Given the description of an element on the screen output the (x, y) to click on. 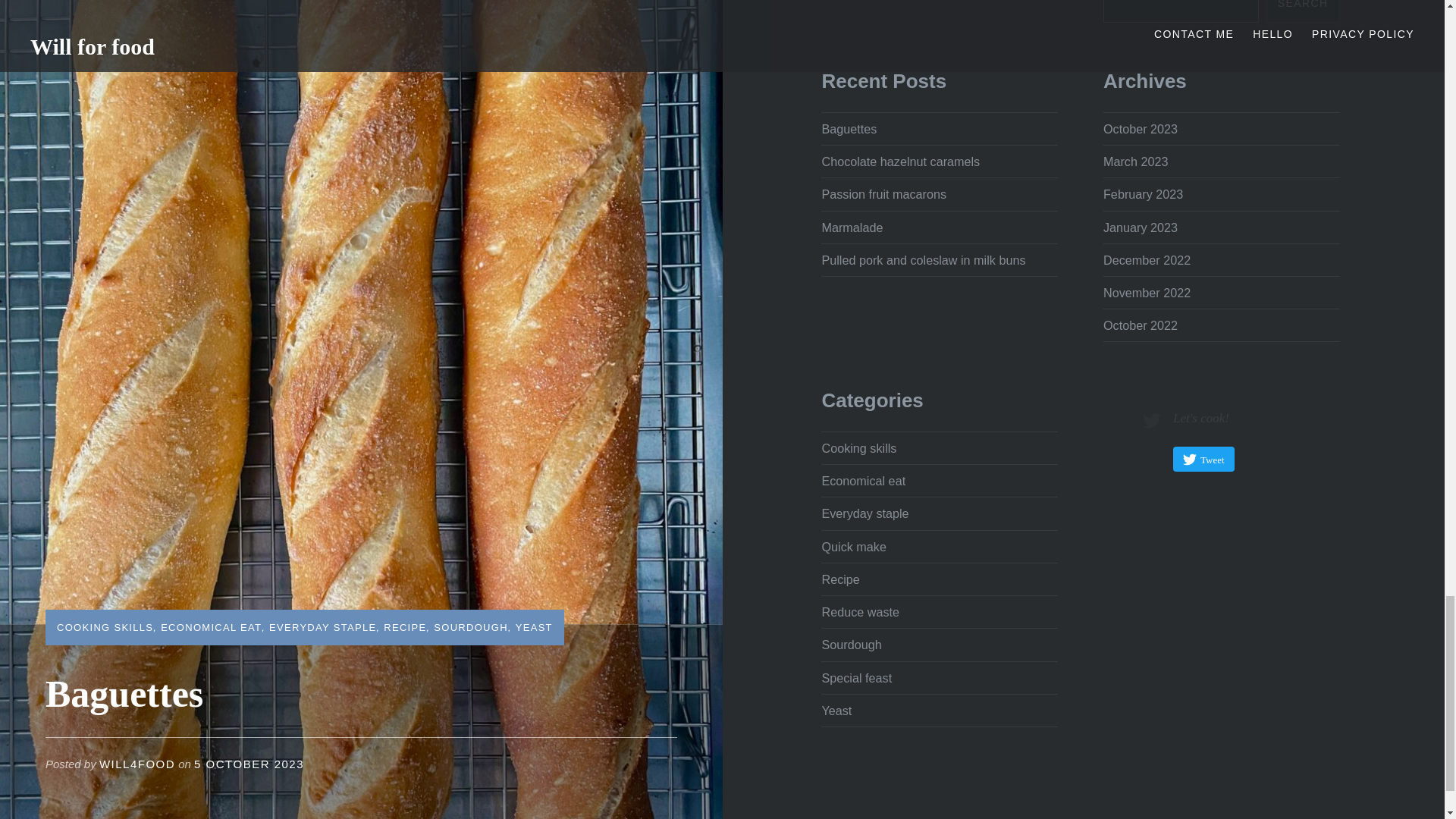
January 2023 (1140, 226)
February 2023 (1142, 193)
Everyday staple (864, 513)
Pulled pork and coleslaw in milk buns (923, 259)
March 2023 (1135, 161)
November 2022 (1147, 292)
Chocolate hazelnut caramels (900, 161)
Quick make (853, 546)
Recipe (840, 579)
Marmalade (851, 226)
